Given the description of an element on the screen output the (x, y) to click on. 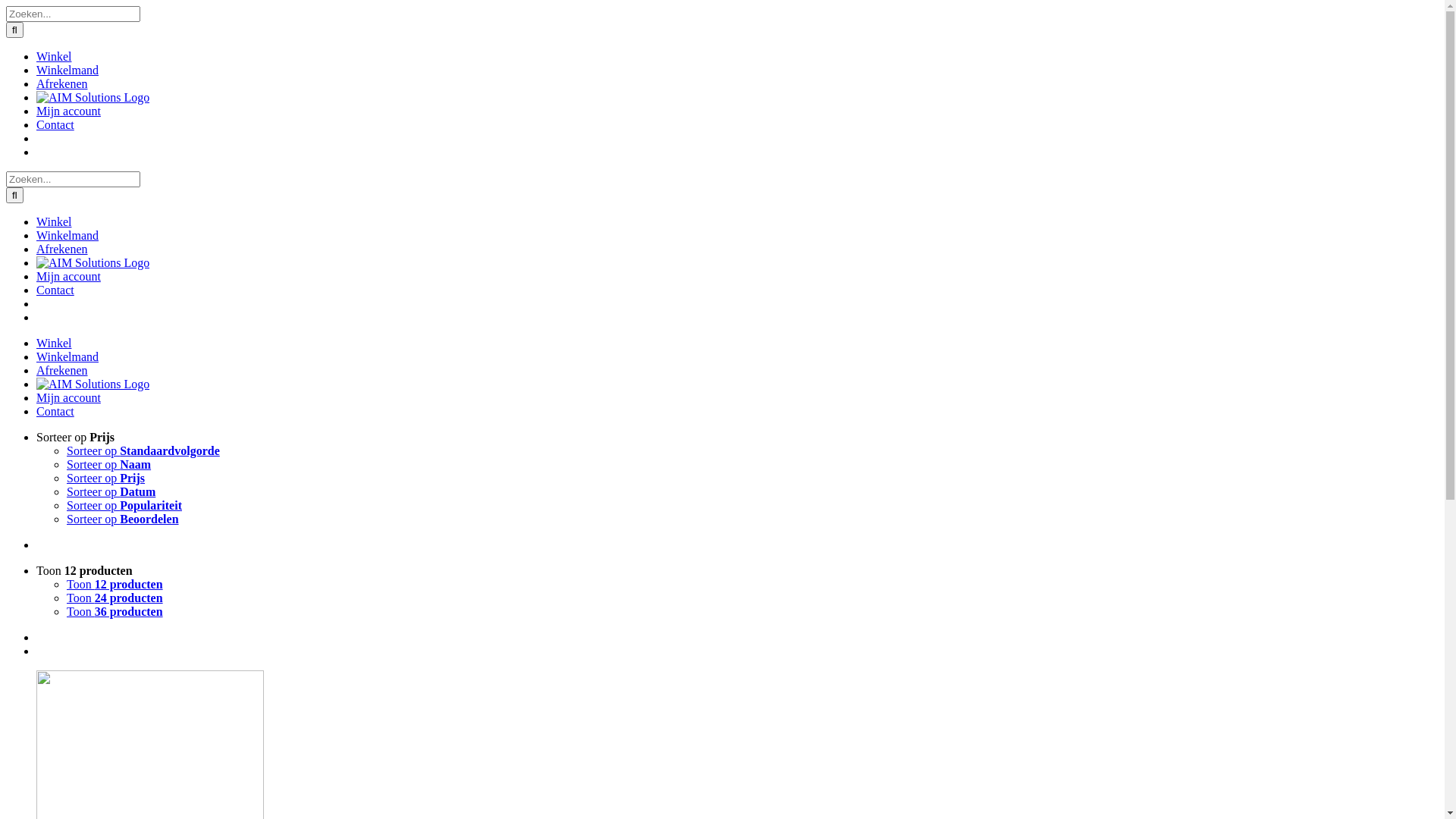
Afrekenen Element type: text (61, 248)
Contact Element type: text (55, 289)
Winkelmand Element type: text (67, 69)
Sorteer op Standaardvolgorde Element type: text (142, 450)
Sorteer op Prijs Element type: text (105, 477)
Afrekenen Element type: text (61, 370)
Toon 24 producten Element type: text (114, 597)
Mijn account Element type: text (68, 397)
Winkel Element type: text (53, 56)
Winkel Element type: text (53, 342)
Contact Element type: text (55, 410)
Sorteer op Datum Element type: text (110, 491)
Skip to content Element type: text (5, 5)
Sorteer op Beoordelen Element type: text (122, 518)
Contact Element type: text (55, 124)
Sorteer op Populariteit Element type: text (124, 504)
Winkel Element type: text (53, 221)
Toon 12 producten Element type: text (114, 583)
Mijn account Element type: text (68, 110)
Toon 36 producten Element type: text (114, 611)
Mijn account Element type: text (68, 275)
Afrekenen Element type: text (61, 83)
Sorteer op Naam Element type: text (108, 464)
Winkelmand Element type: text (67, 235)
Sorteer op Prijs Element type: text (75, 436)
Toon 12 producten Element type: text (84, 570)
Winkelmand Element type: text (67, 356)
